Given the description of an element on the screen output the (x, y) to click on. 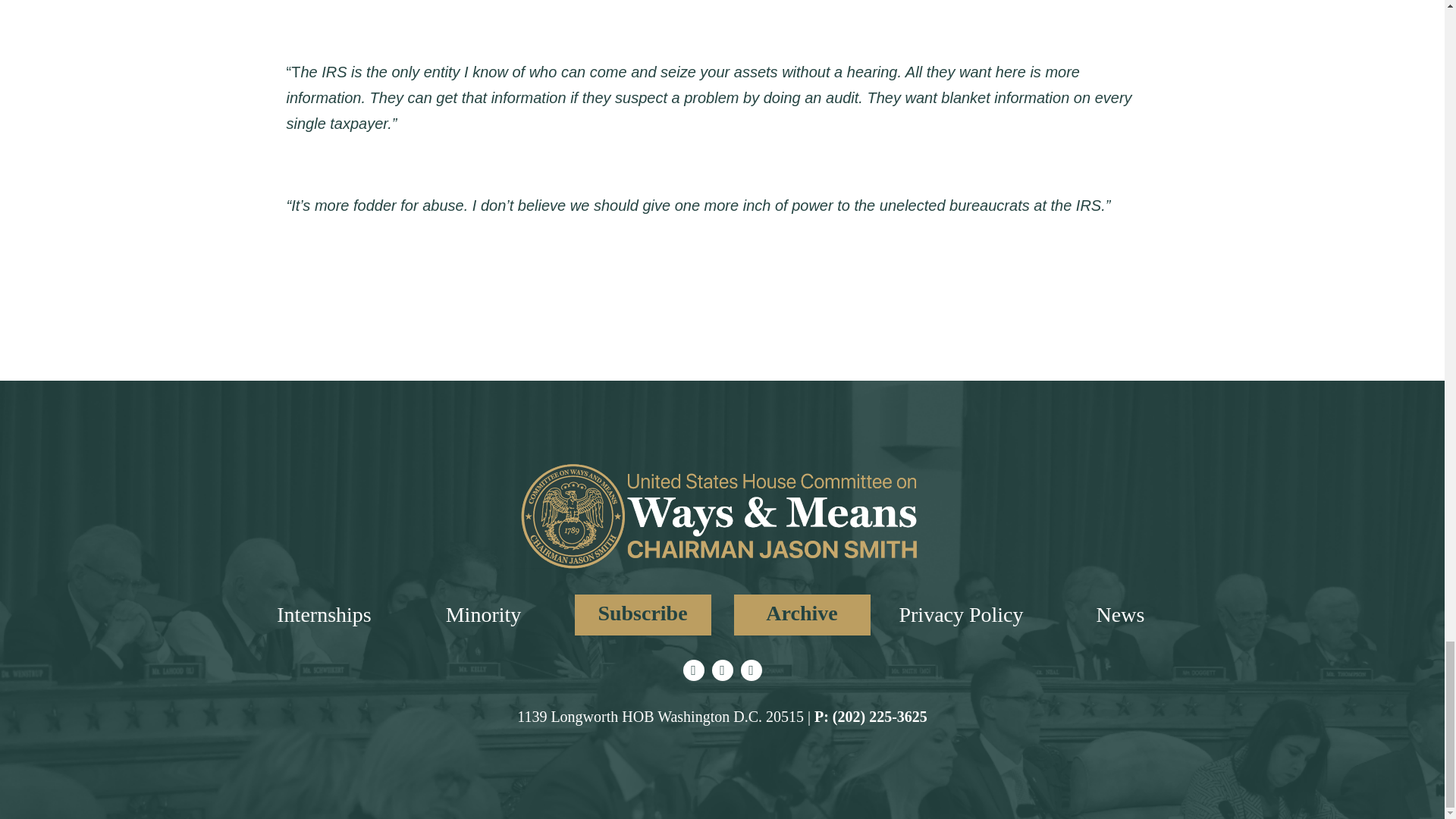
Minority (483, 614)
Twitter (692, 670)
Privacy Policy (960, 614)
Archive (801, 614)
Internships (323, 614)
News (1120, 614)
Instagram (721, 670)
Subscribe (643, 614)
